Given the description of an element on the screen output the (x, y) to click on. 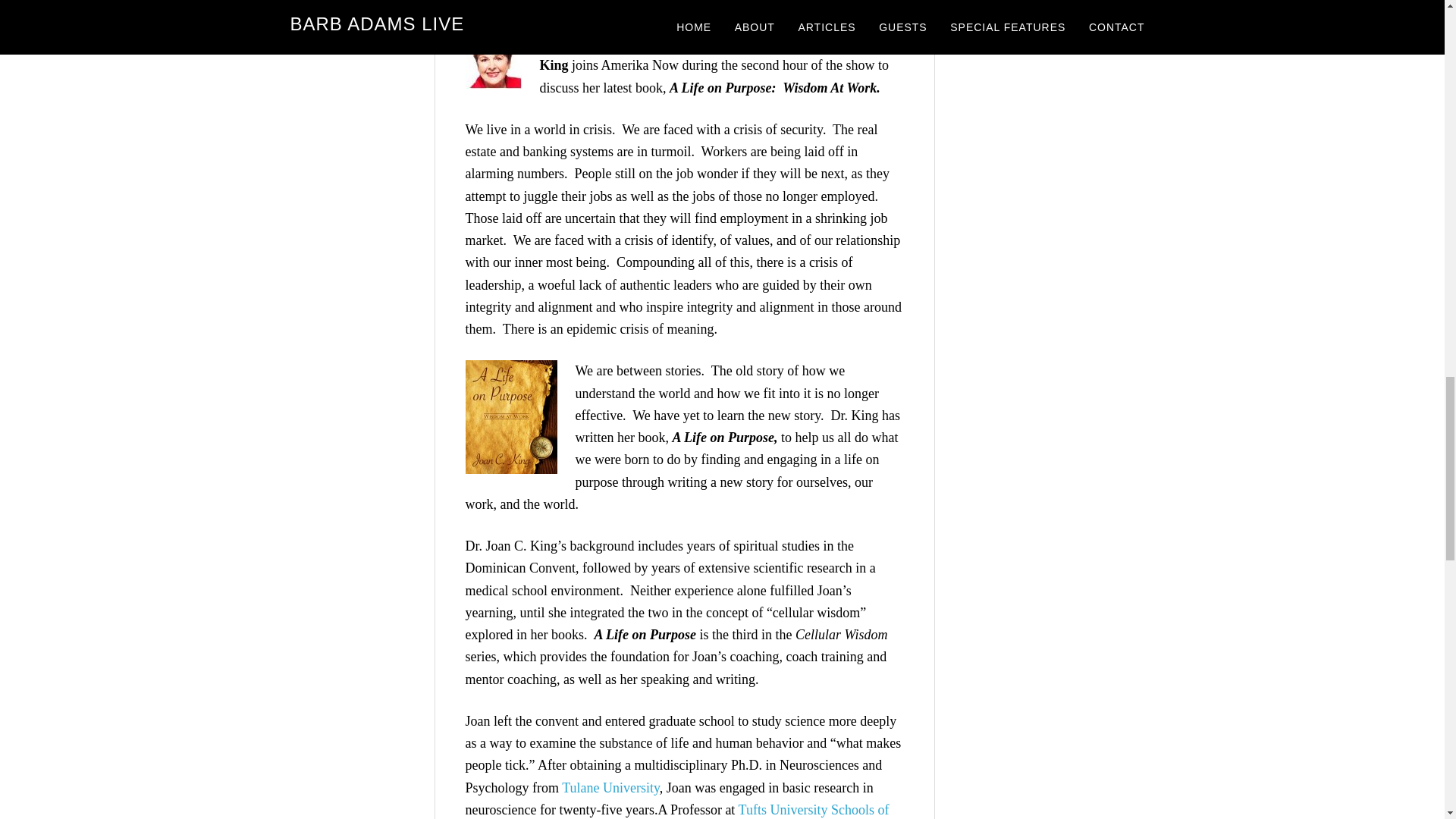
Tufts University Schools of Medicine in Boston (677, 810)
Tulane University (610, 786)
